Given the description of an element on the screen output the (x, y) to click on. 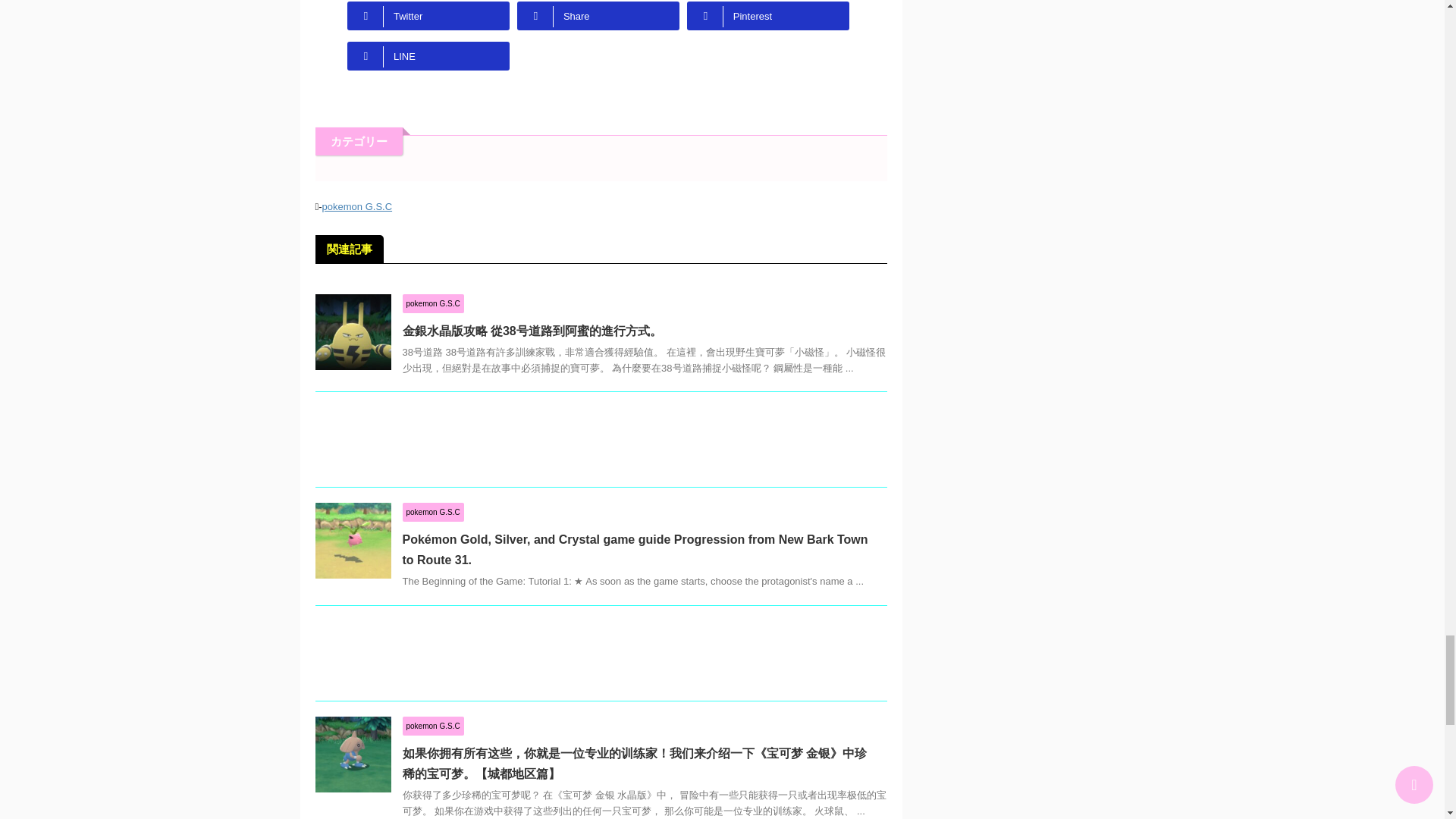
View all posts in pokemon G.S.C (432, 725)
View all posts in pokemon G.S.C (432, 511)
Twitter (428, 15)
View all posts in pokemon G.S.C (432, 303)
Share (597, 15)
